Given the description of an element on the screen output the (x, y) to click on. 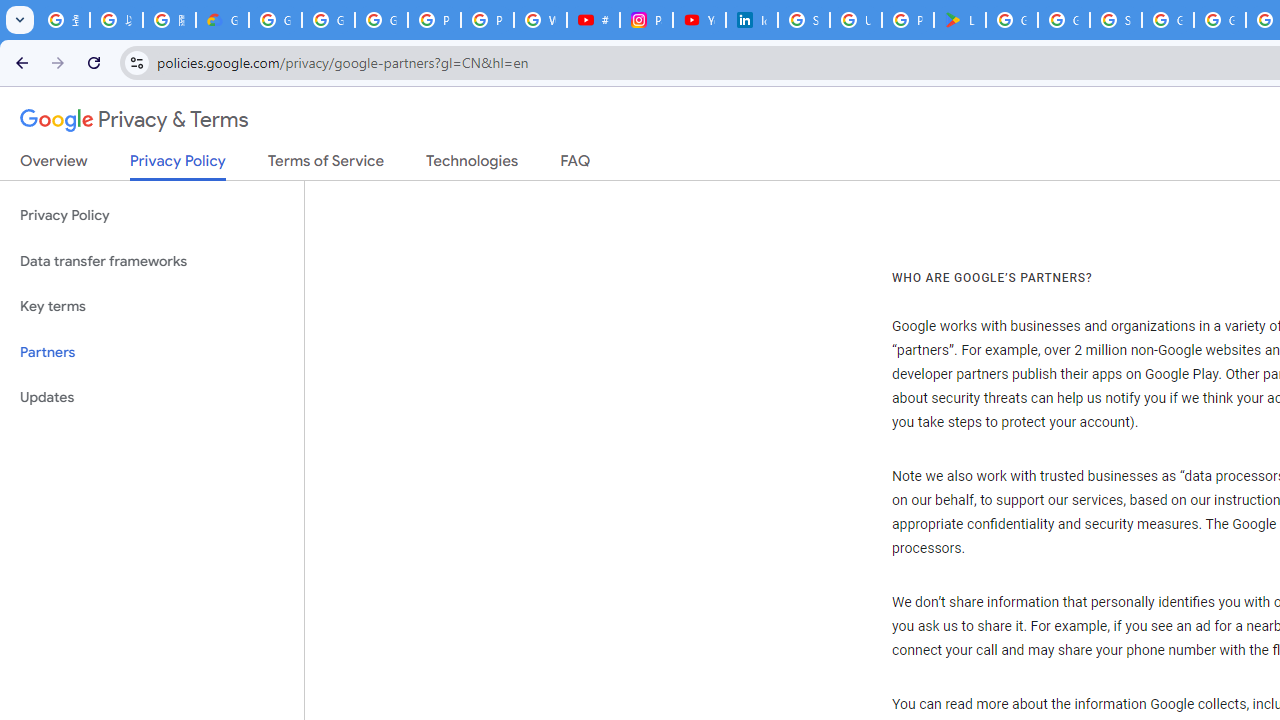
Google Cloud Platform (1219, 20)
Last Shelter: Survival - Apps on Google Play (959, 20)
